Given the description of an element on the screen output the (x, y) to click on. 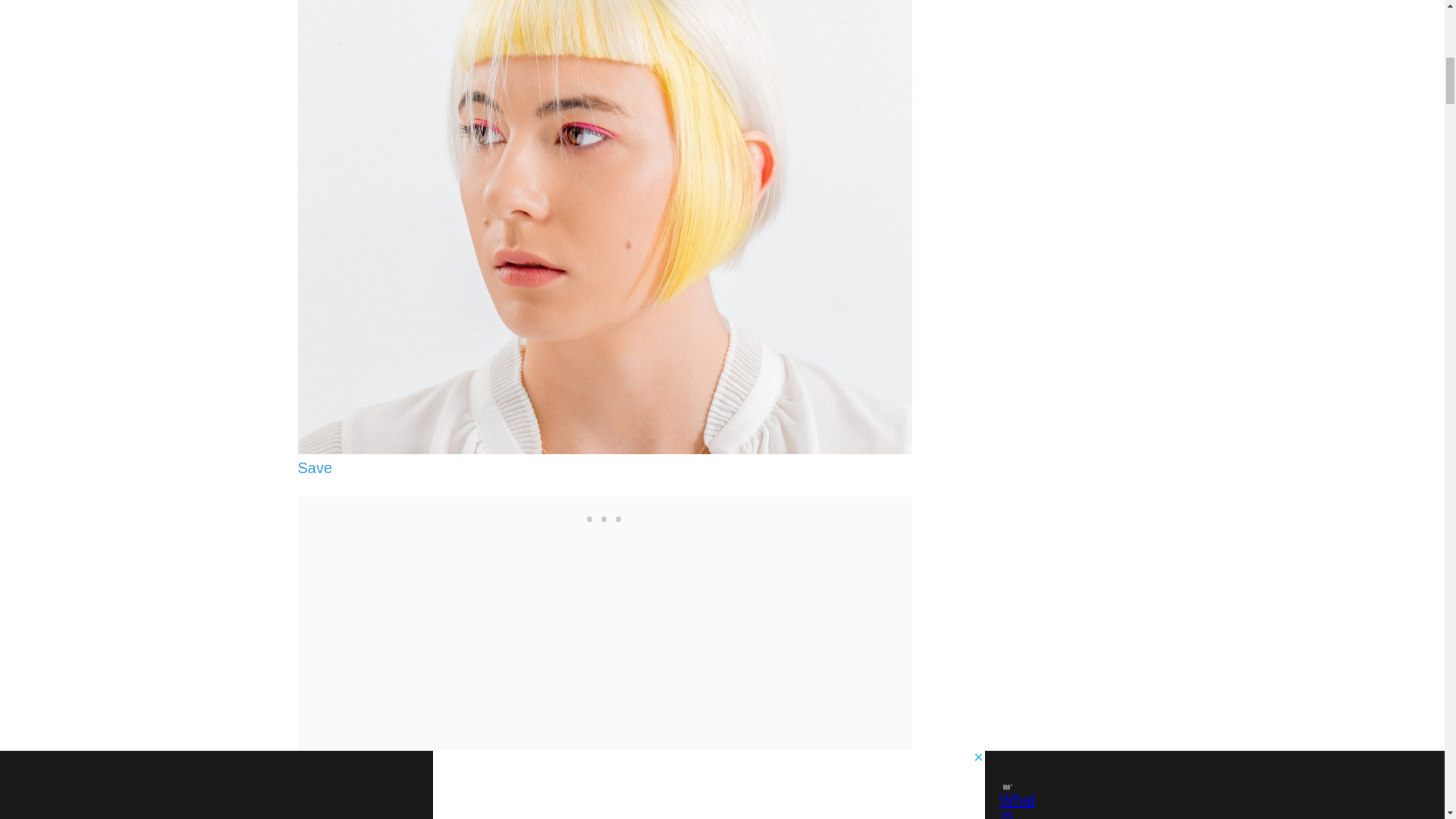
3rd party ad content (604, 515)
Save (314, 467)
Scroll back to top (1406, 720)
